Given the description of an element on the screen output the (x, y) to click on. 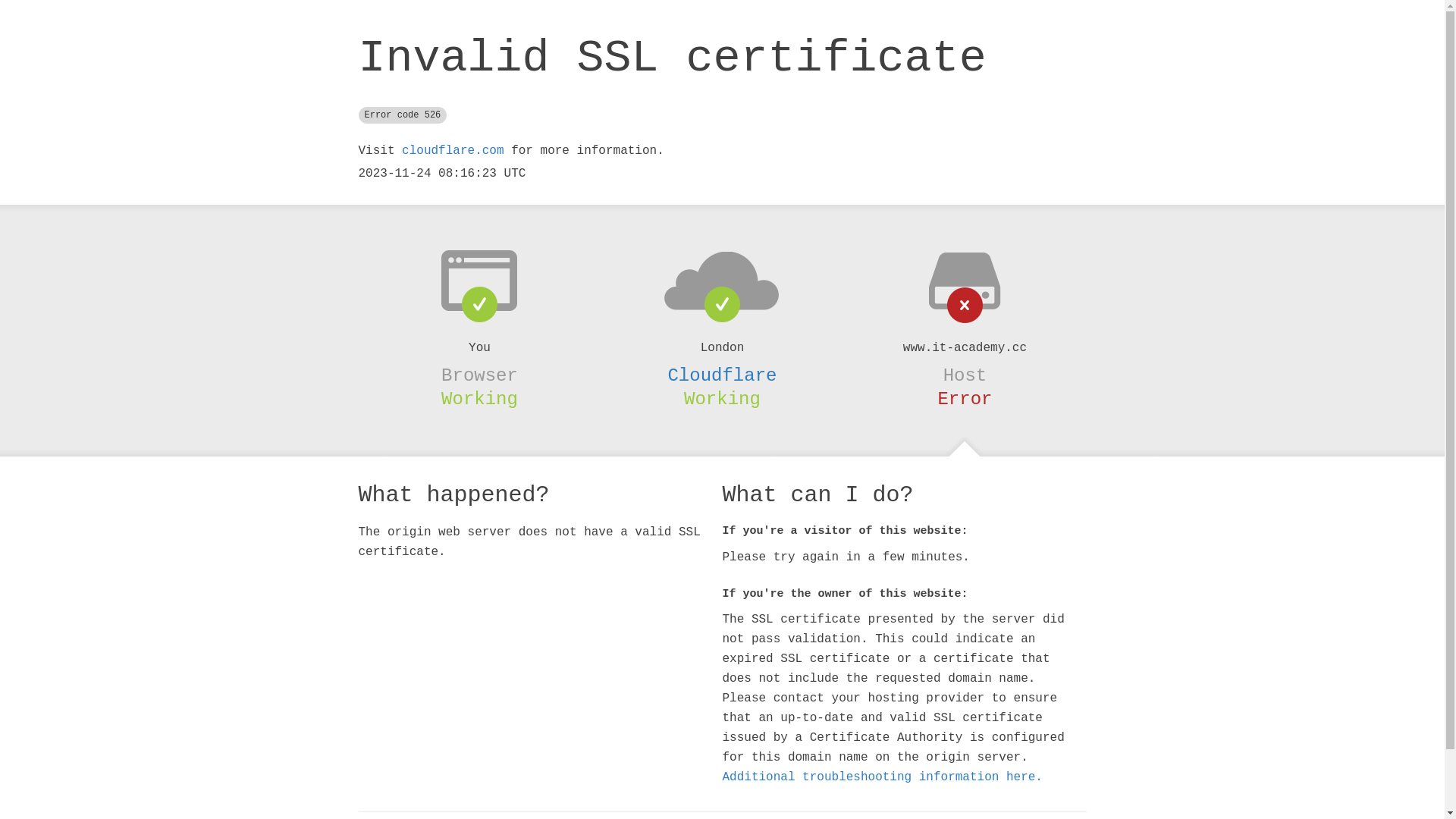
cloudflare.com Element type: text (452, 150)
Additional troubleshooting information here. Element type: text (881, 777)
Cloudflare Element type: text (721, 375)
